Given the description of an element on the screen output the (x, y) to click on. 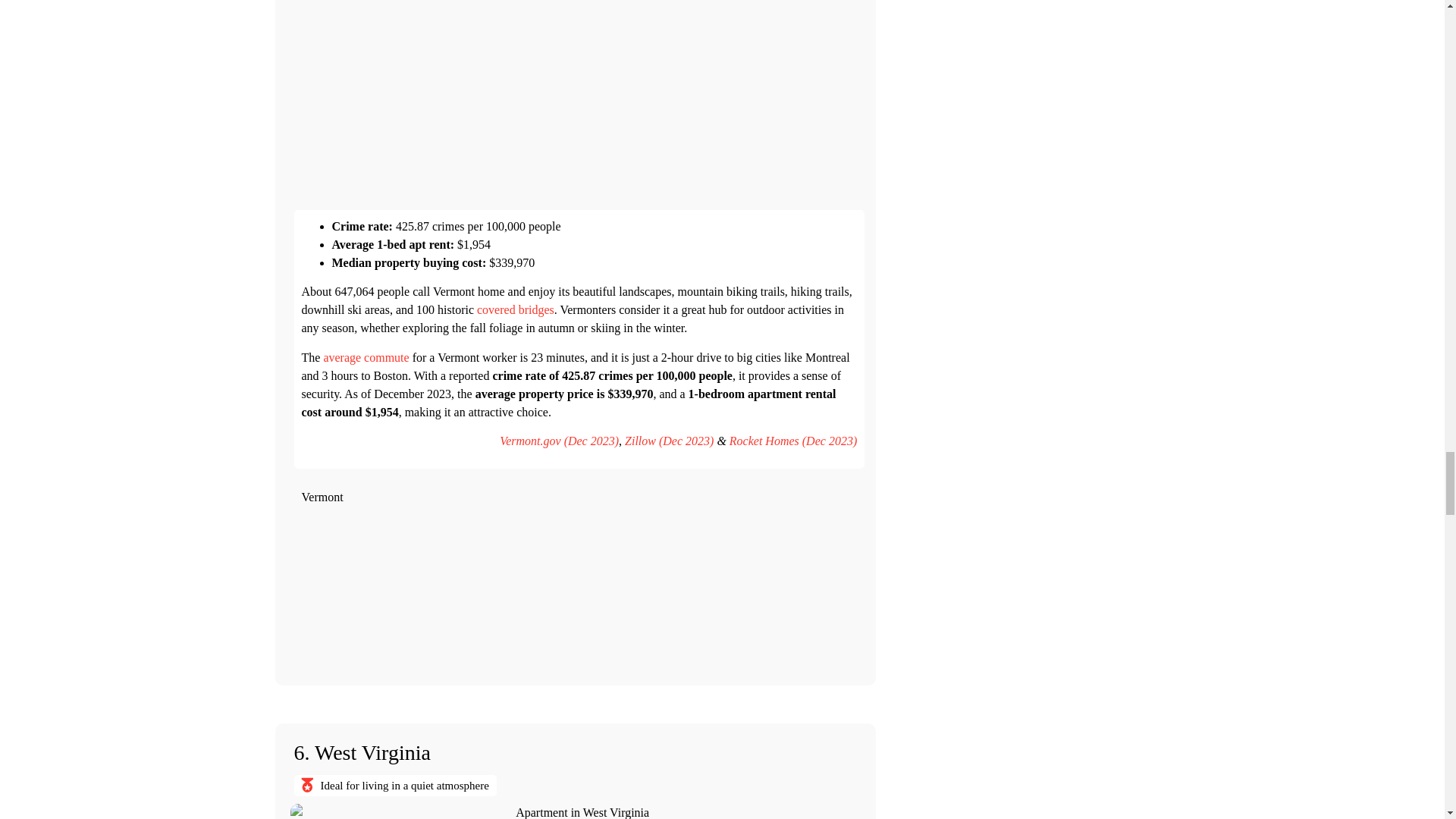
Vermont (579, 588)
